Given the description of an element on the screen output the (x, y) to click on. 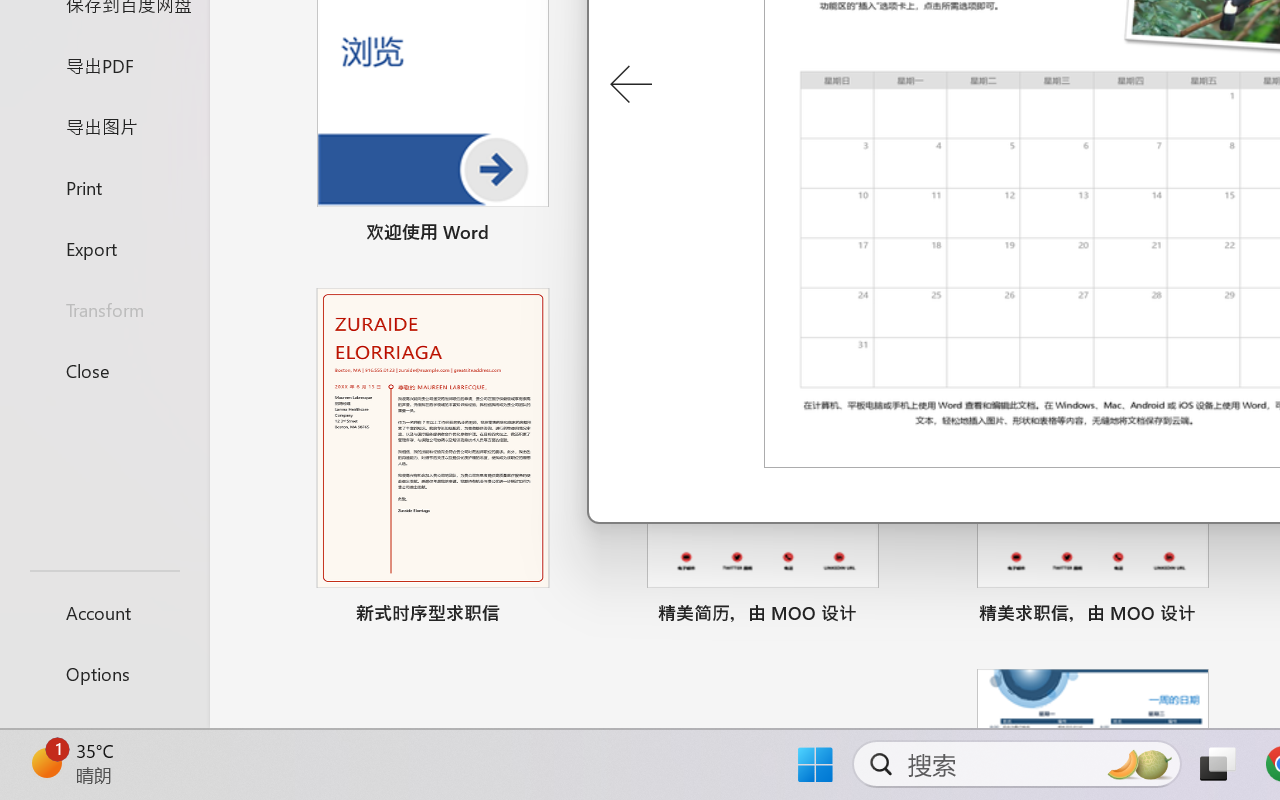
Previous Template (630, 85)
Transform (104, 309)
Export (104, 248)
Account (104, 612)
Pin to list (1223, 616)
Options (104, 673)
